Given the description of an element on the screen output the (x, y) to click on. 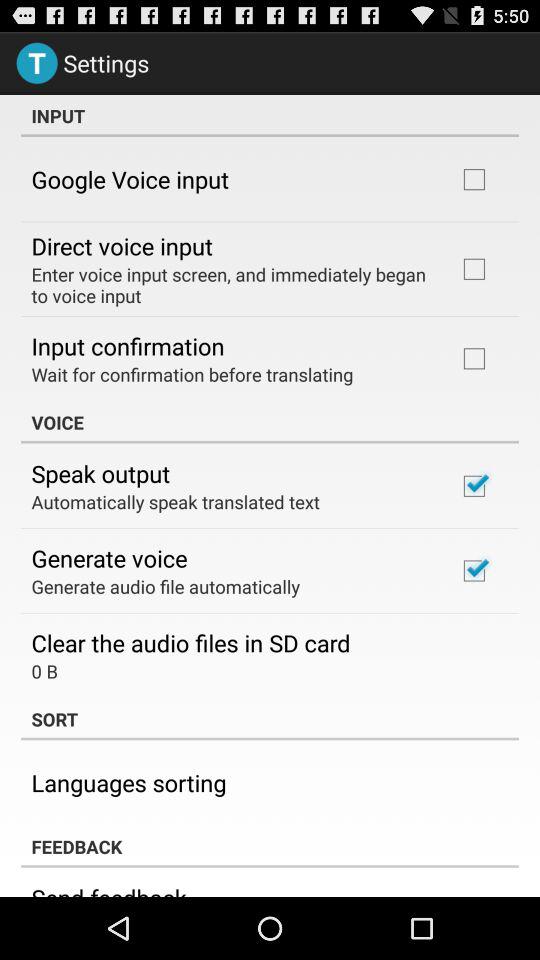
flip to the generate voice app (109, 558)
